Given the description of an element on the screen output the (x, y) to click on. 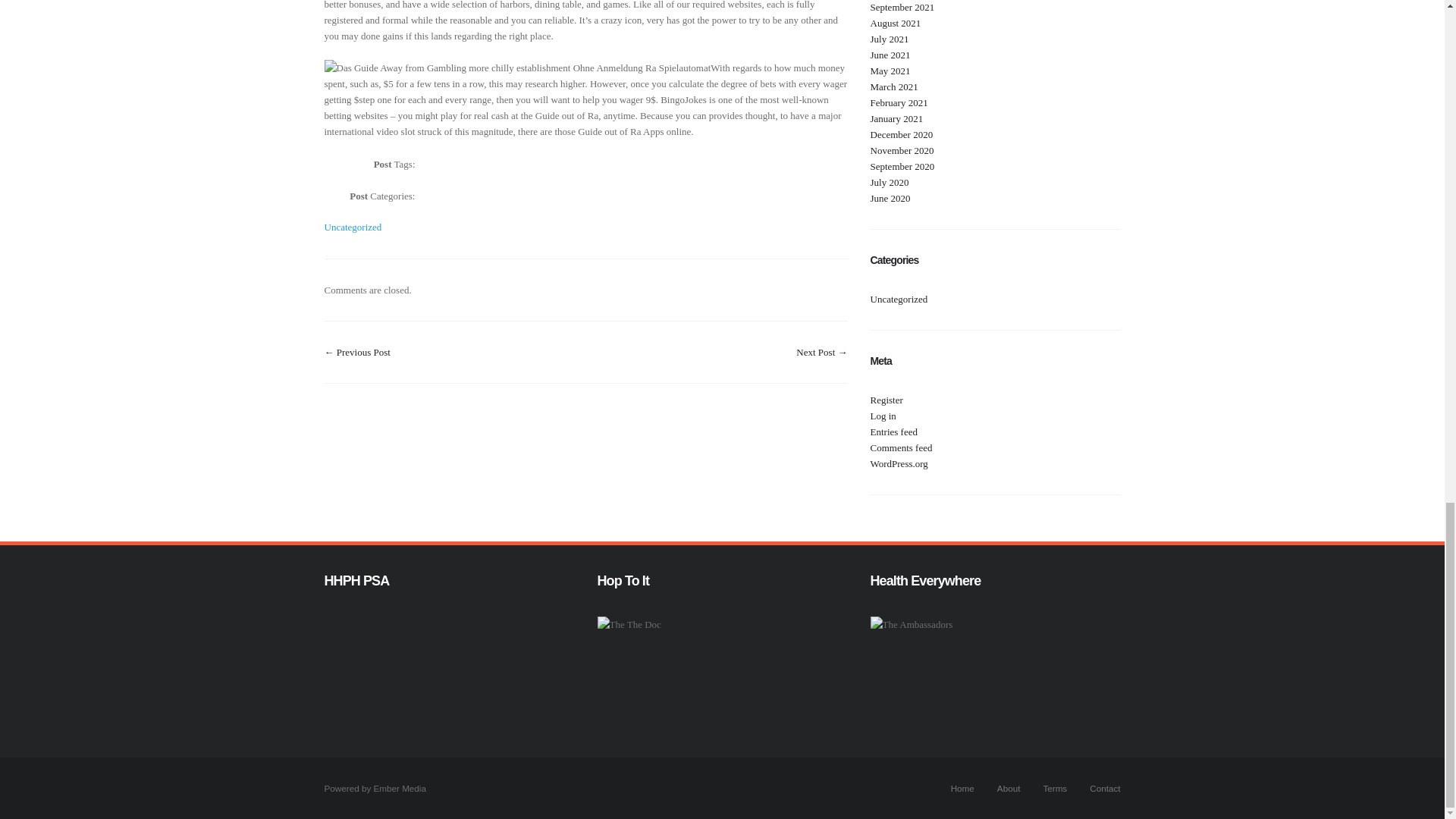
Uncategorized (352, 226)
